Given the description of an element on the screen output the (x, y) to click on. 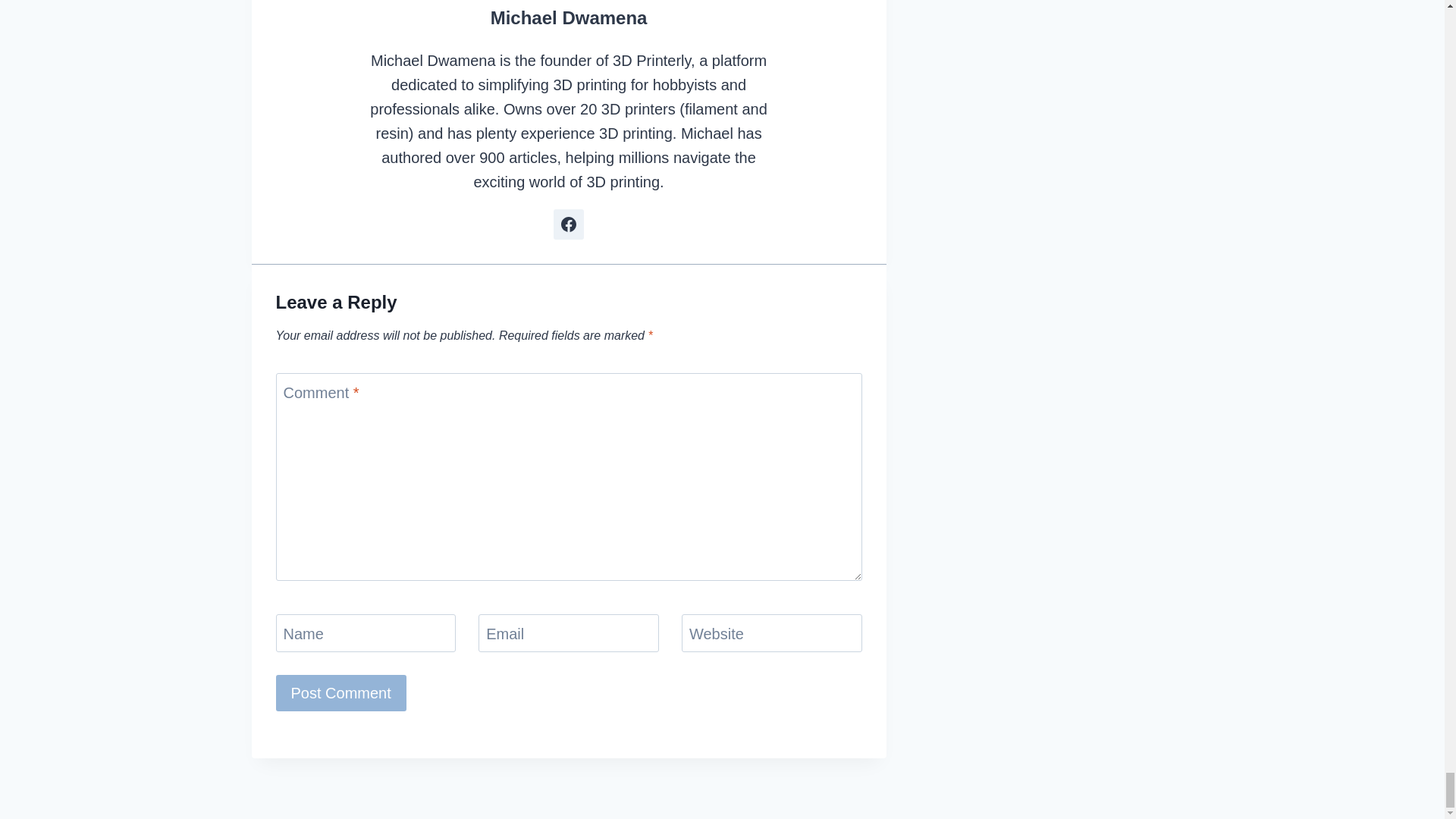
Follow Michael Dwamena on Facebook (568, 224)
Post Comment (341, 692)
Posts by Michael Dwamena (568, 17)
